Given the description of an element on the screen output the (x, y) to click on. 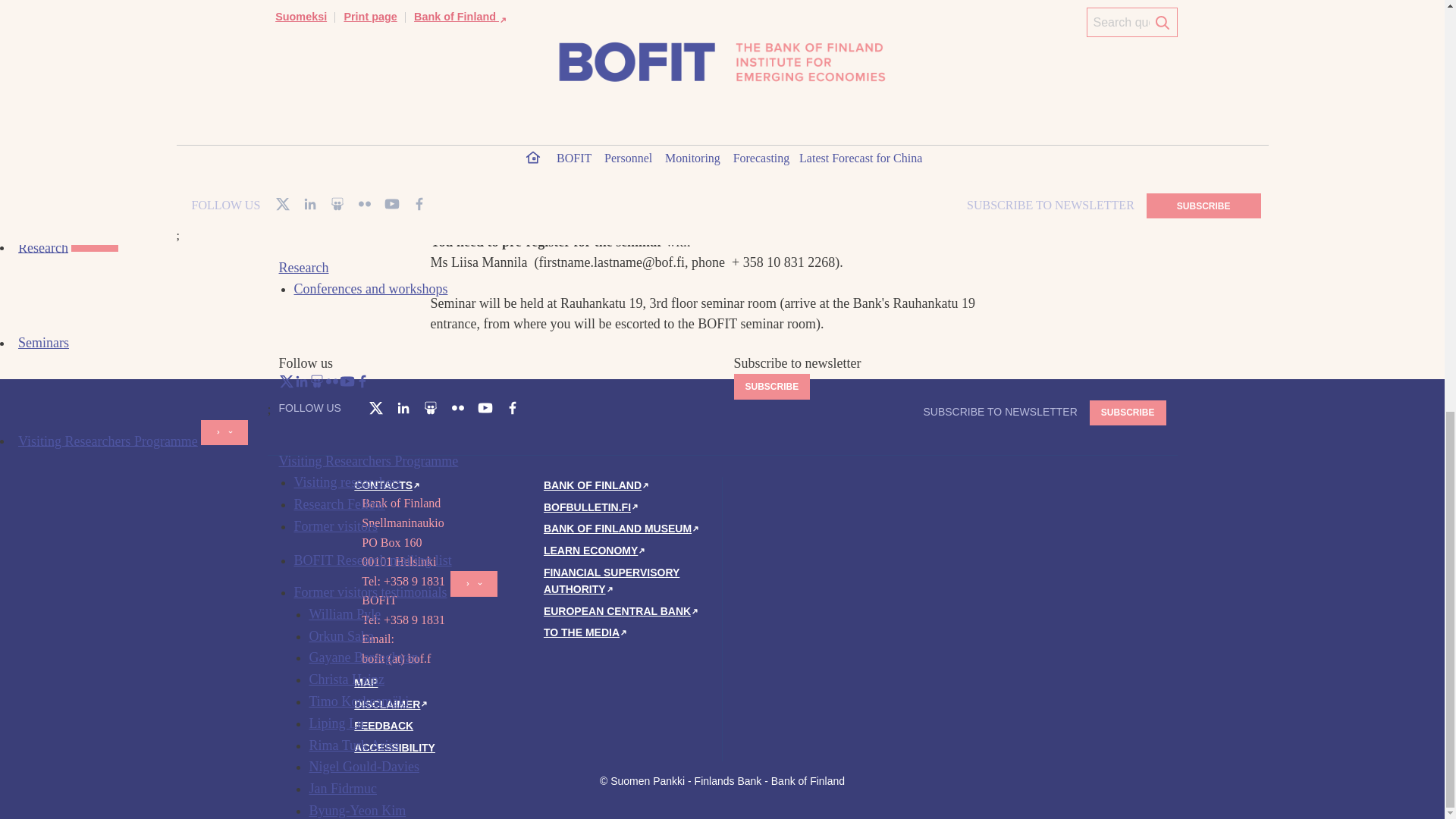
European Central Bank (622, 611)
Bank of Finland museum (622, 528)
bofbulletin.fi (592, 507)
Financial Supervisory Authority (611, 580)
Accessibility (394, 747)
Map (365, 682)
Contacts (388, 485)
